Given the description of an element on the screen output the (x, y) to click on. 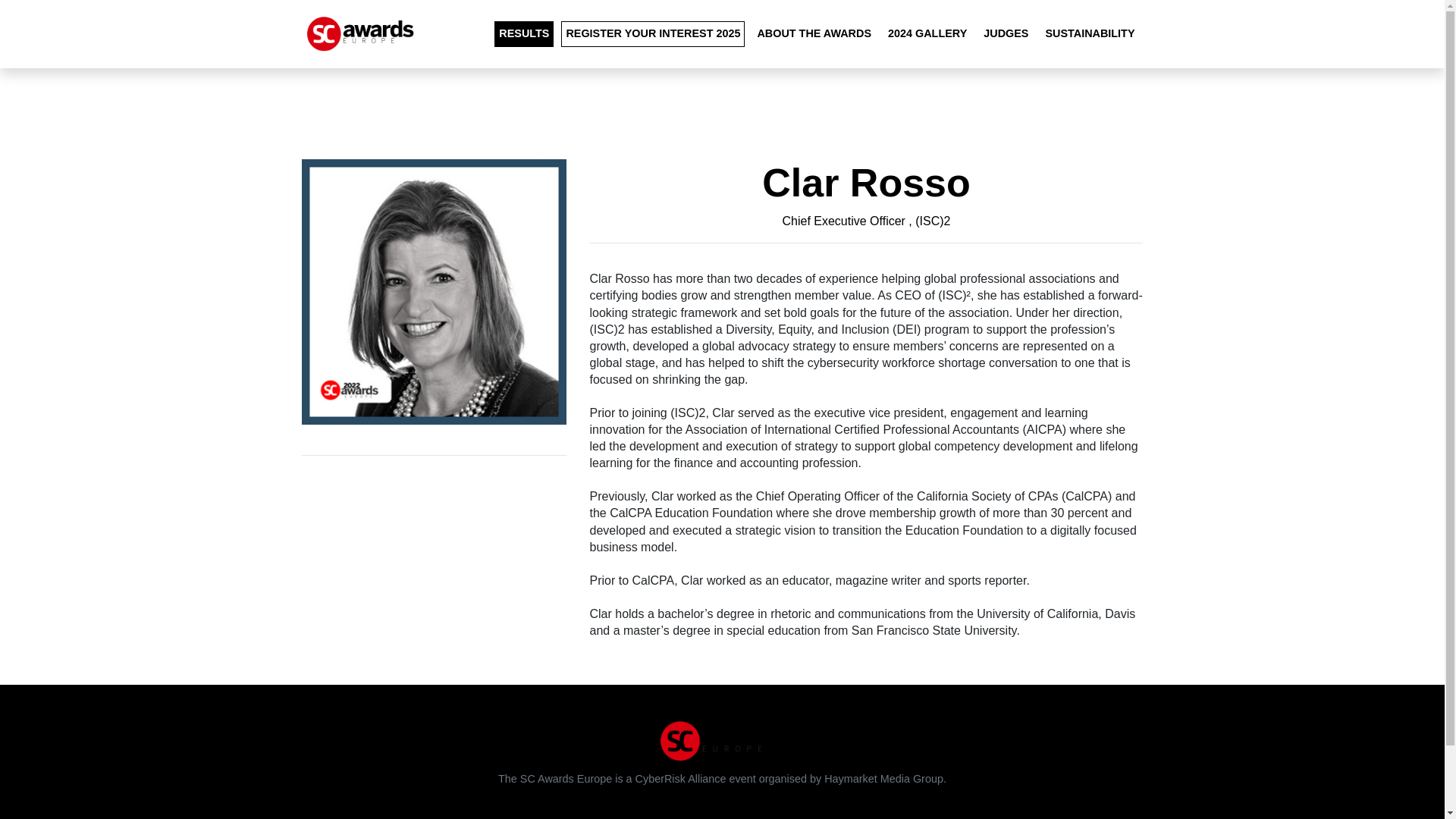
ABOUT THE AWARDS (814, 33)
2024 GALLERY (927, 33)
SUSTAINABILITY (1089, 33)
RESULTS (524, 33)
JUDGES (1005, 33)
RESULTS (524, 33)
2024 GALLERY (927, 33)
JUDGES (1005, 33)
REGISTER YOUR INTEREST 2025 (652, 33)
SUSTAINABILITY (1089, 33)
